Given the description of an element on the screen output the (x, y) to click on. 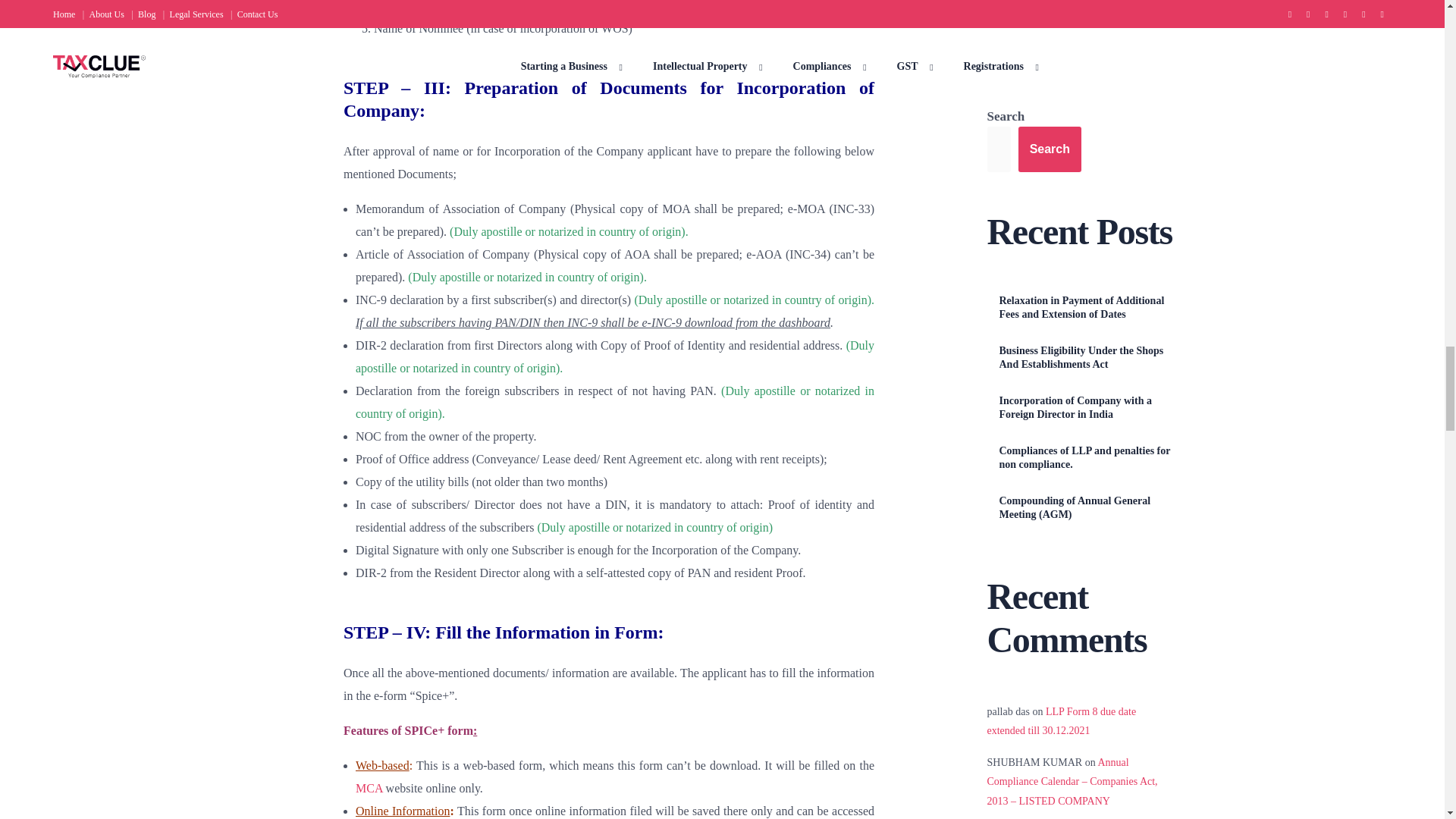
MCA (368, 788)
